Given the description of an element on the screen output the (x, y) to click on. 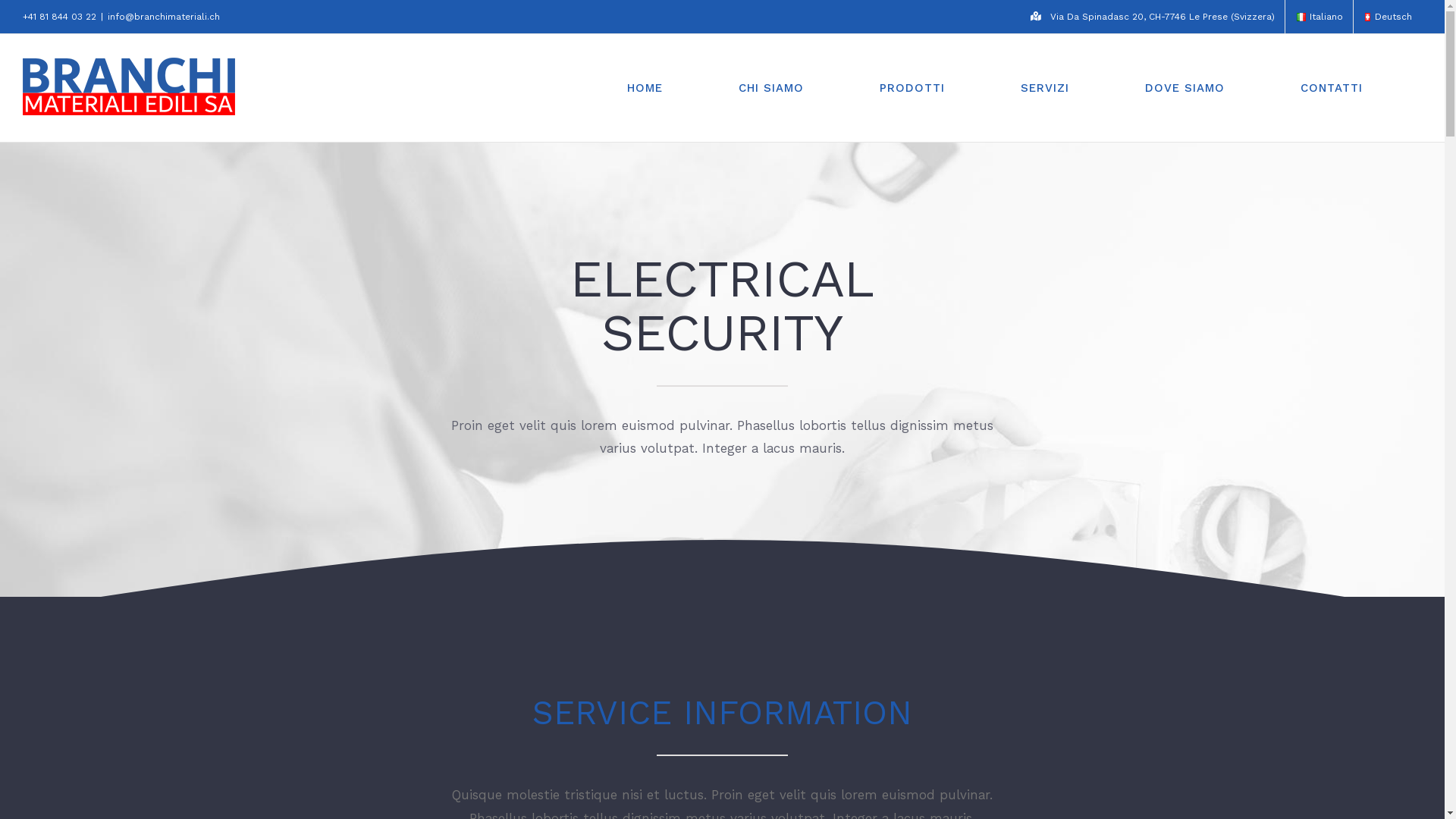
Italiano Element type: hover (1301, 16)
Via Da Spinadasc 20, CH-7746 Le Prese (Svizzera) Element type: text (1152, 16)
PRODOTTI Element type: text (911, 87)
Deutsch Element type: text (1387, 16)
info@branchimateriali.ch Element type: text (163, 16)
HOME Element type: text (644, 87)
CONTATTI Element type: text (1331, 87)
CHI SIAMO Element type: text (770, 87)
DOVE SIAMO Element type: text (1184, 87)
SERVIZI Element type: text (1044, 87)
Deutsch Element type: hover (1367, 16)
Italiano Element type: text (1319, 16)
